Given the description of an element on the screen output the (x, y) to click on. 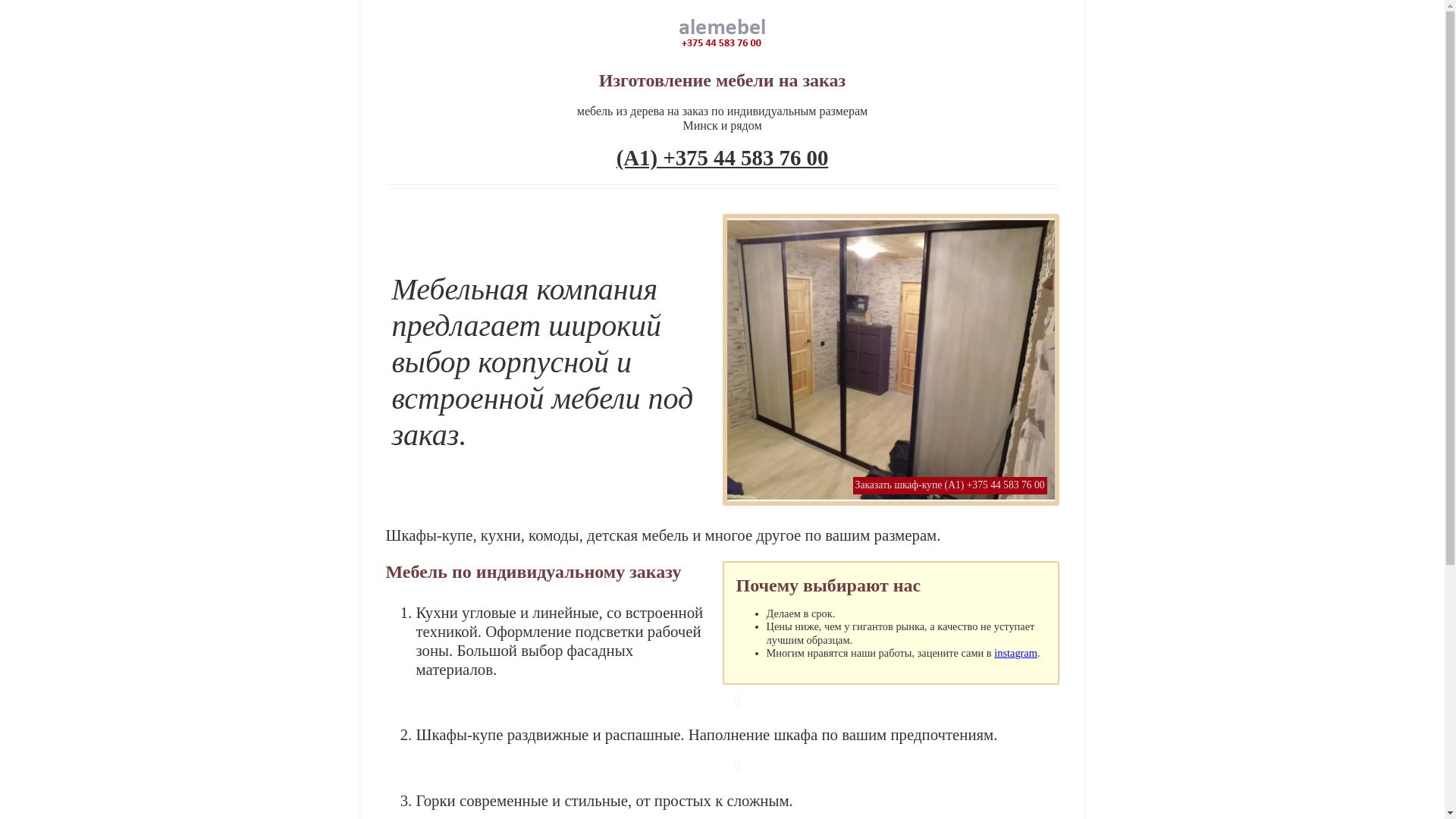
(A1) +375 44 583 76 00 Element type: text (722, 157)
instagram Element type: text (1015, 652)
